Given the description of an element on the screen output the (x, y) to click on. 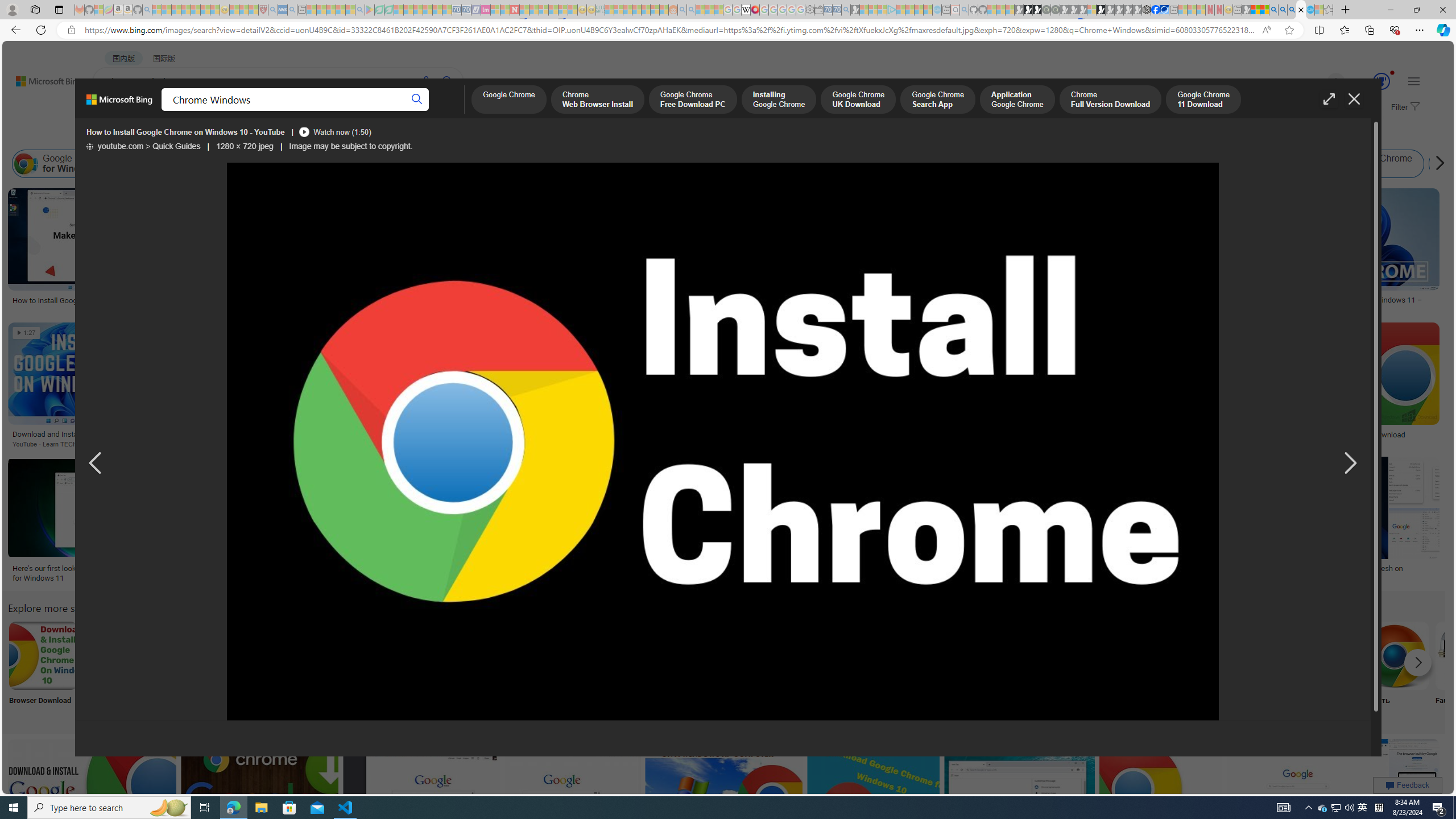
Chrome Free Download (1169, 654)
Google Chrome UK Download (858, 100)
VIDEOS (310, 111)
Chrome Logo.png Logo png (568, 669)
14 Common Myths Debunked By Scientific Facts - Sleeping (533, 9)
Get Google (944, 669)
Internet Chrome Install (731, 163)
Download and Install Google Chrome on Windows 11 (93, 433)
Sign in to your account - Sleeping (1090, 9)
App bar (728, 29)
